Given the description of an element on the screen output the (x, y) to click on. 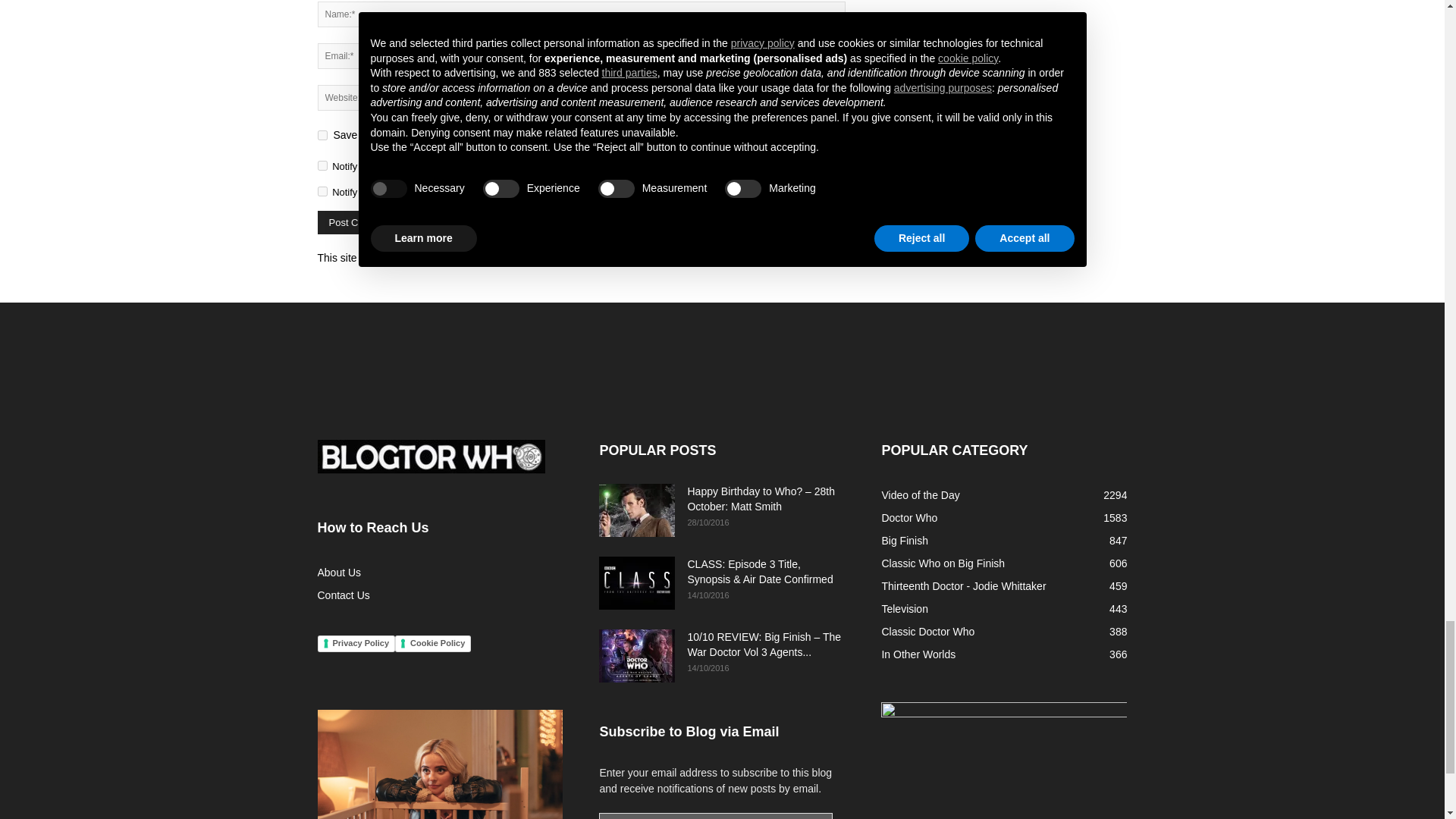
yes (321, 135)
subscribe (321, 191)
Post Comment (360, 222)
subscribe (321, 165)
